Given the description of an element on the screen output the (x, y) to click on. 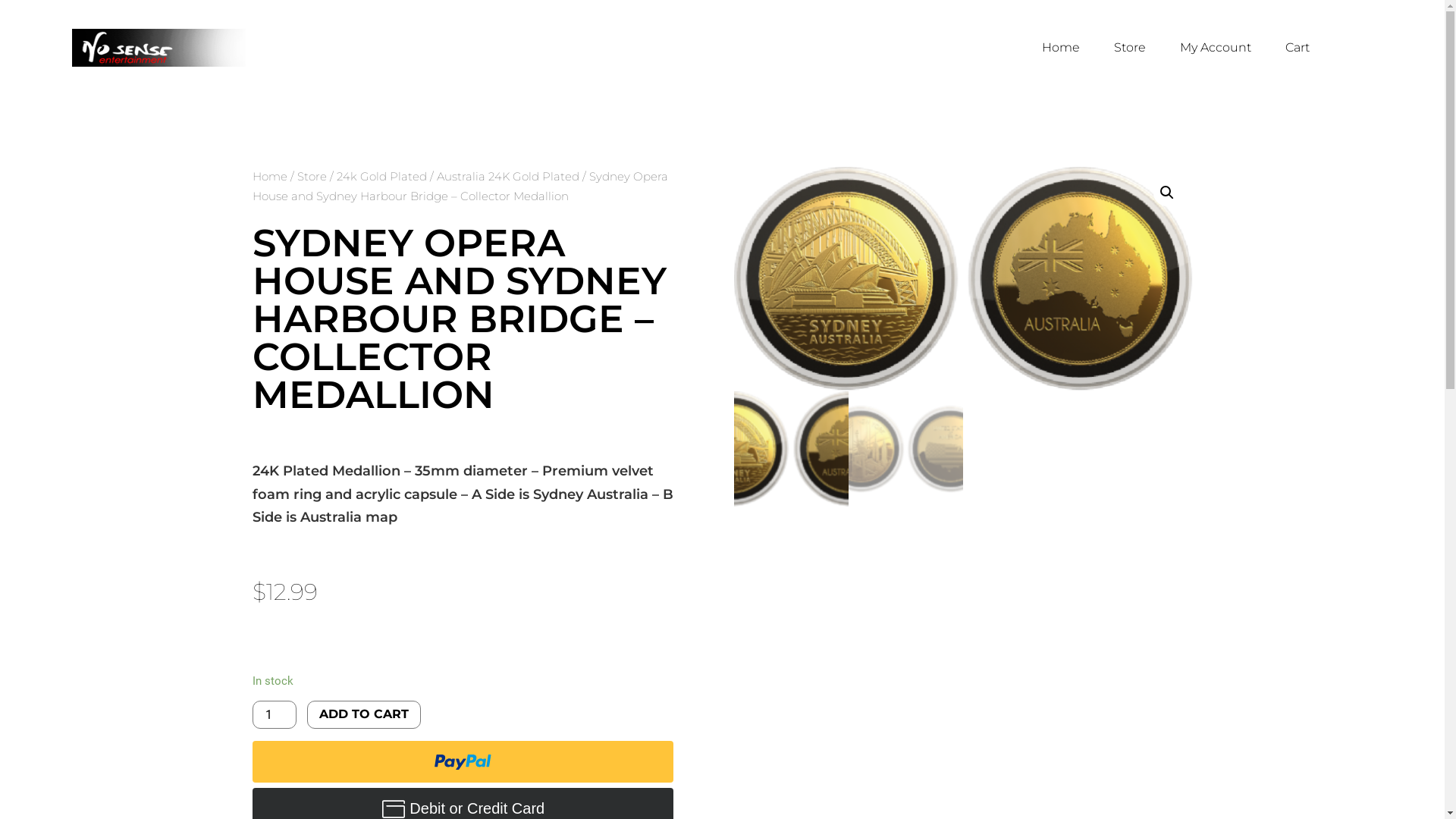
Store Element type: text (311, 176)
ADD TO CART Element type: text (363, 714)
Australia 24K Gold Plated Element type: text (507, 176)
My Account Element type: text (1215, 47)
PayPal Element type: hover (461, 761)
Asset 1@4x Element type: hover (963, 278)
24k Gold Plated Element type: text (381, 176)
Home Element type: text (1060, 47)
Store Element type: text (1129, 47)
Home Element type: text (268, 176)
Qty Element type: hover (273, 714)
Cart Element type: text (1297, 47)
